Given the description of an element on the screen output the (x, y) to click on. 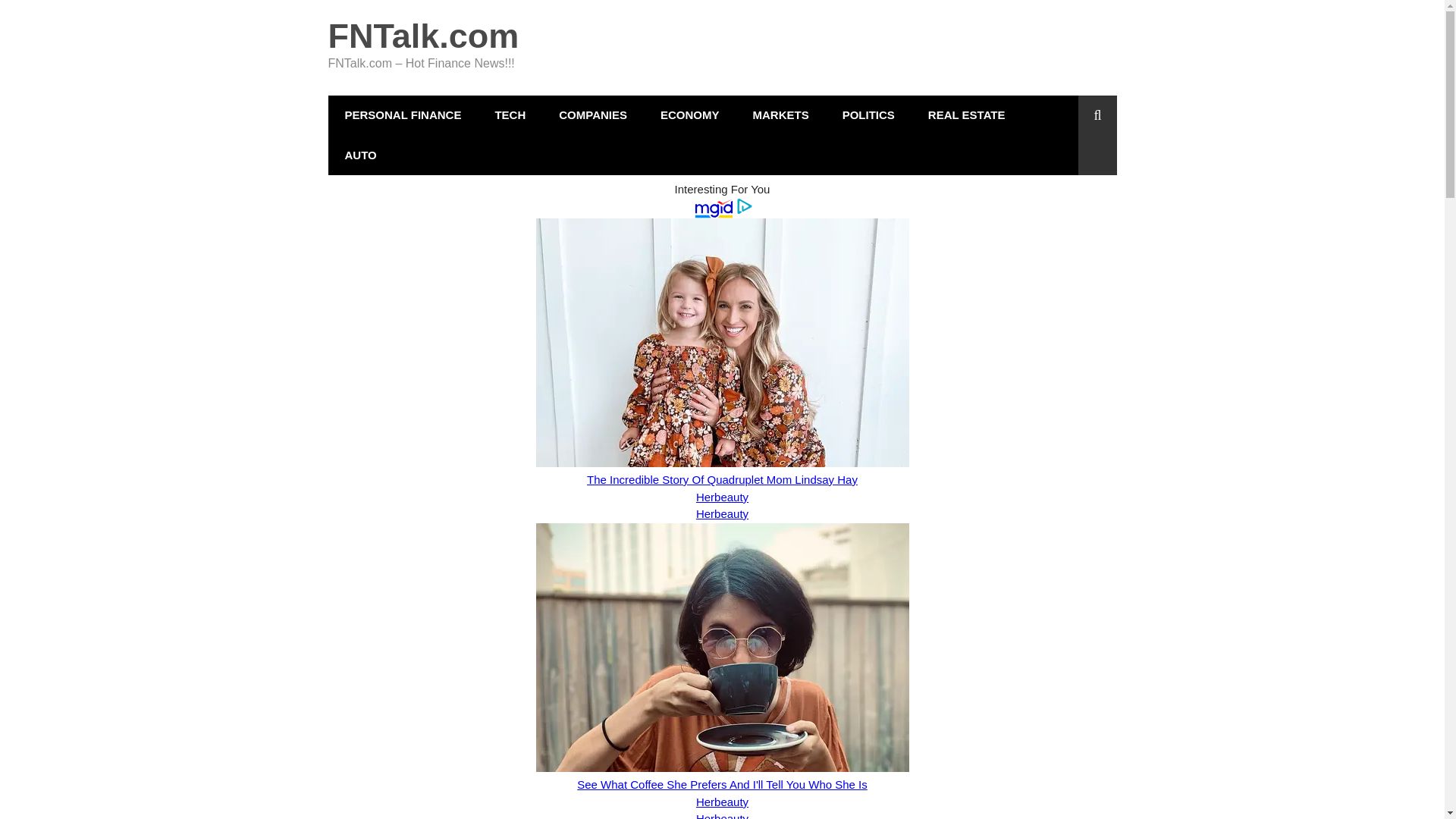
POLITICS (868, 115)
ECONOMY (689, 115)
PERSONAL FINANCE (402, 115)
TECH (509, 115)
AUTO (360, 155)
FNTalk.com (422, 35)
REAL ESTATE (966, 115)
COMPANIES (592, 115)
MARKETS (780, 115)
